Given the description of an element on the screen output the (x, y) to click on. 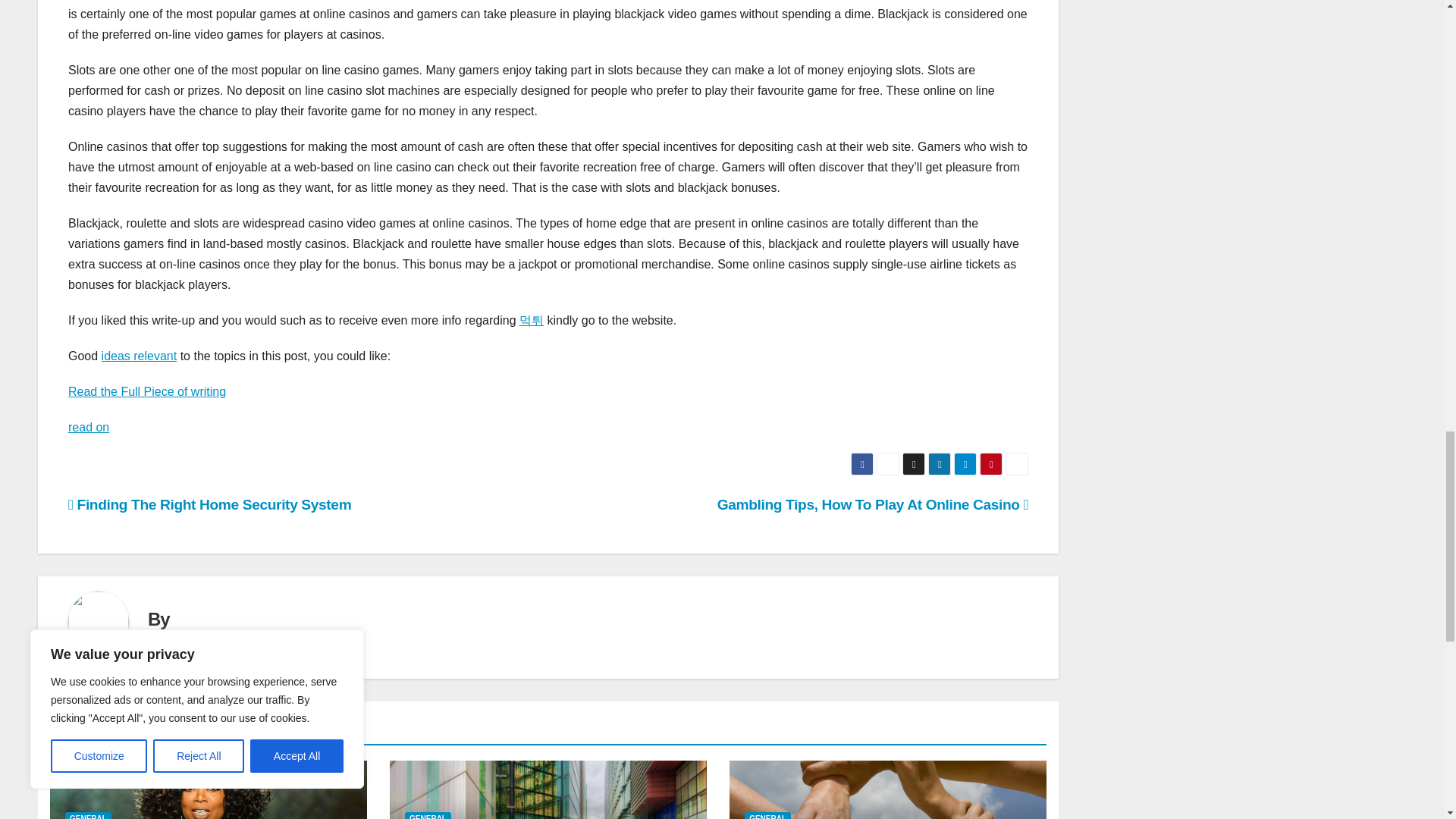
ideas relevant (139, 355)
read on (88, 427)
Read the Full Piece of writing (146, 391)
